Given the description of an element on the screen output the (x, y) to click on. 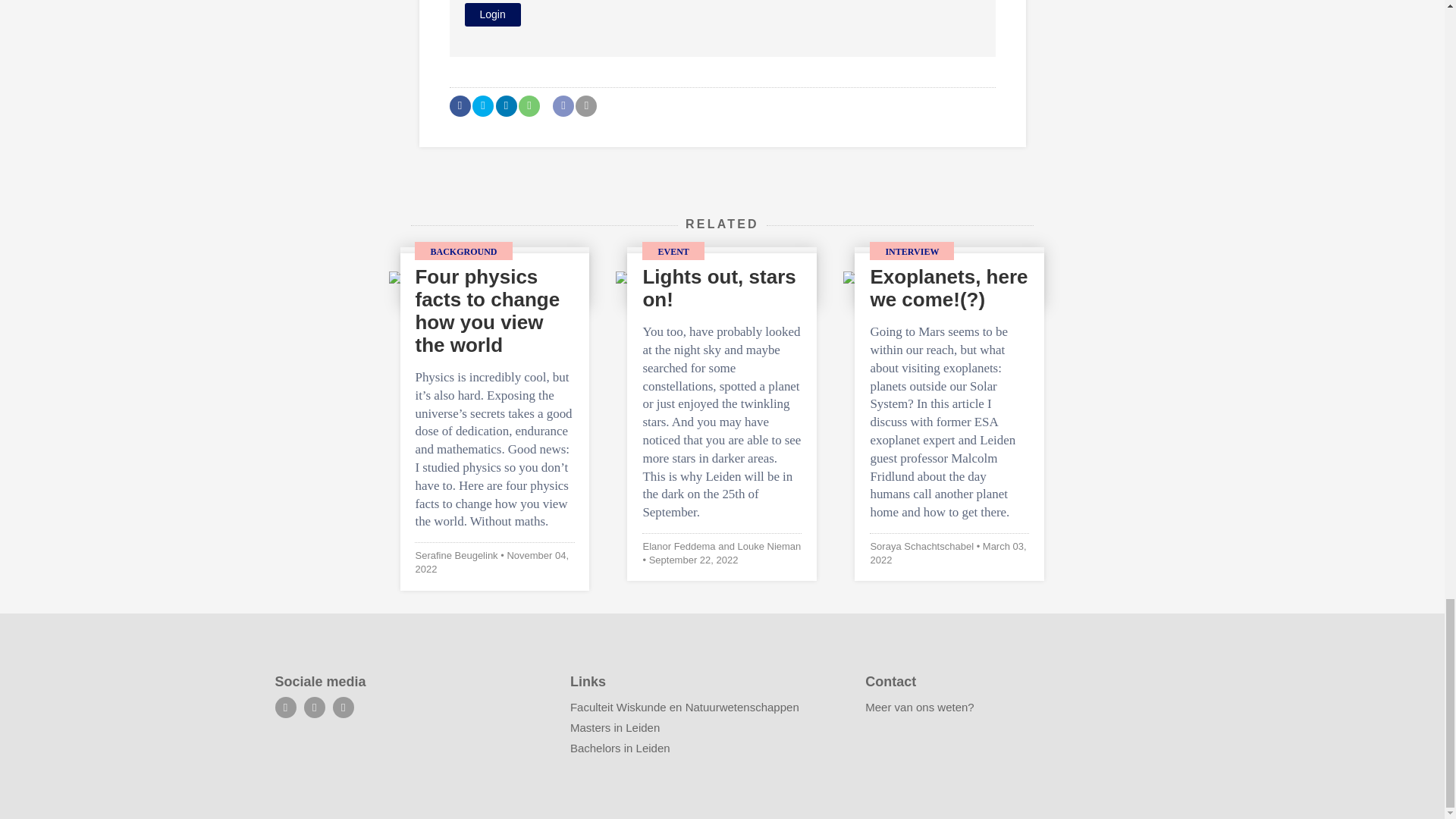
Faculteit Wiskunde en Natuurwetenschappen (684, 707)
Masters in Leiden (614, 727)
Meer van ons weten? (919, 707)
Login (491, 14)
Login (491, 14)
Print (585, 106)
Bachelors in Leiden (619, 748)
